Given the description of an element on the screen output the (x, y) to click on. 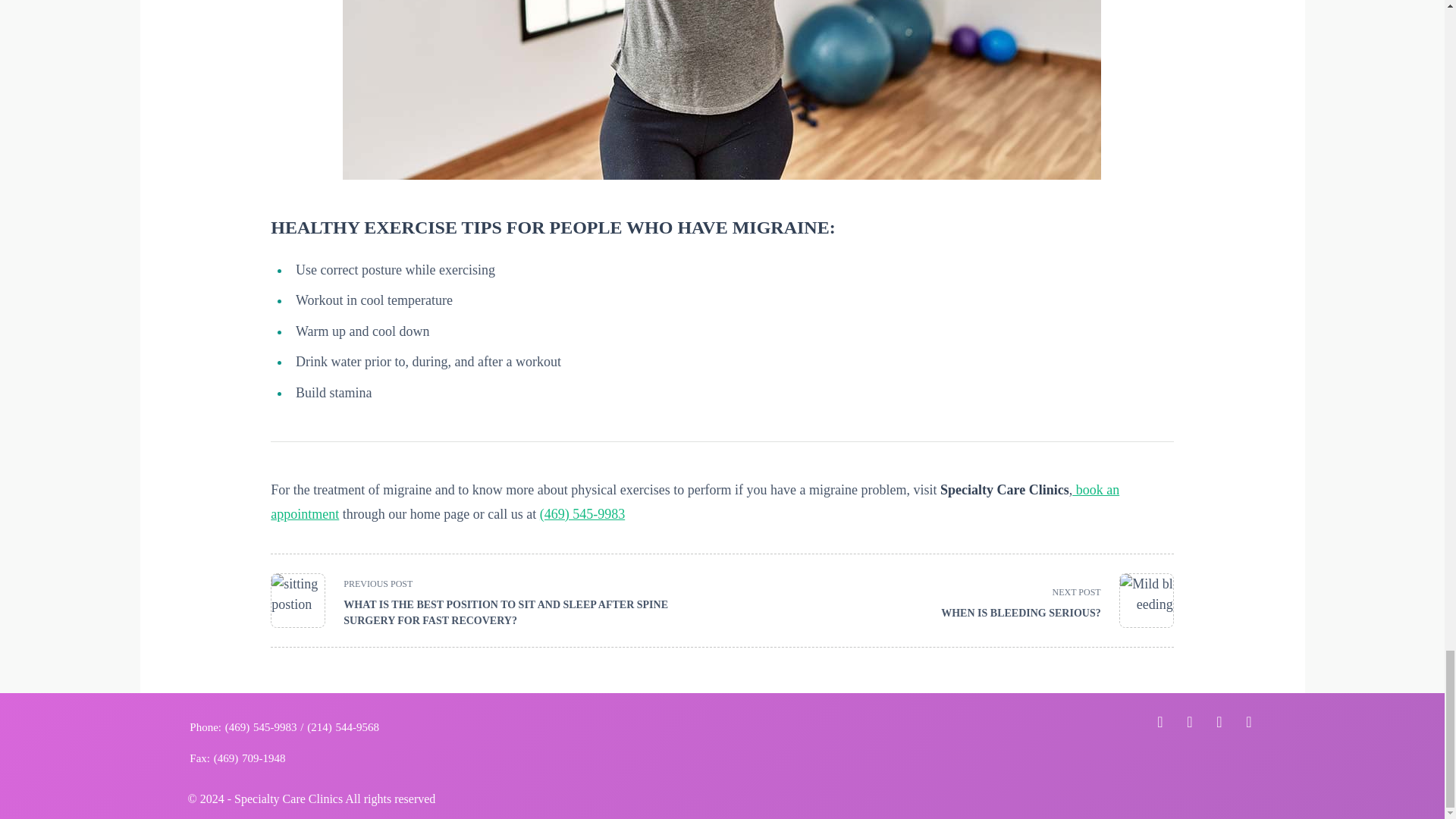
book an appointment (1048, 600)
